Given the description of an element on the screen output the (x, y) to click on. 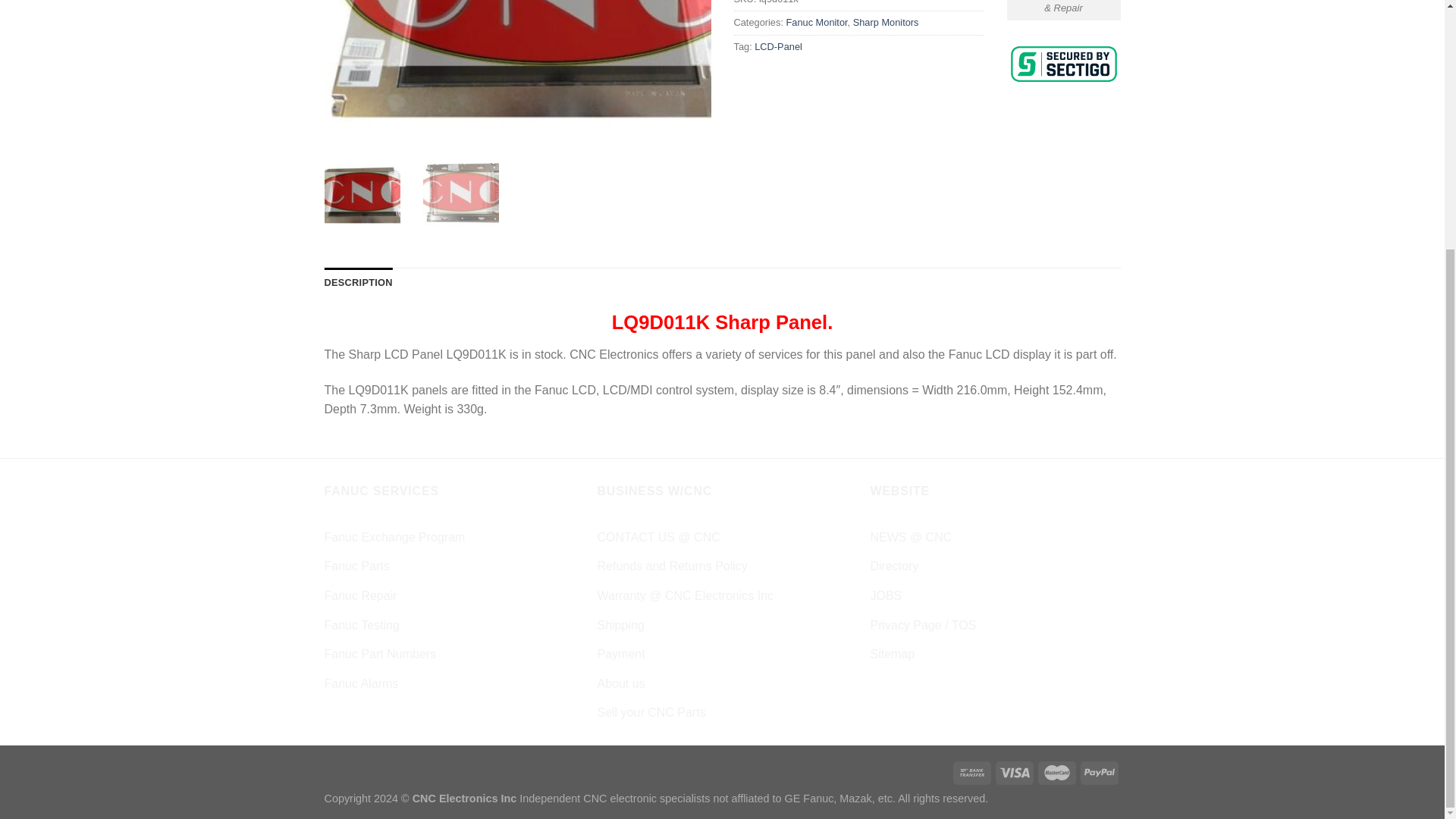
LCD-Panel (778, 46)
Sharp Monitors (885, 21)
Fanuc Monitor (816, 21)
